Given the description of an element on the screen output the (x, y) to click on. 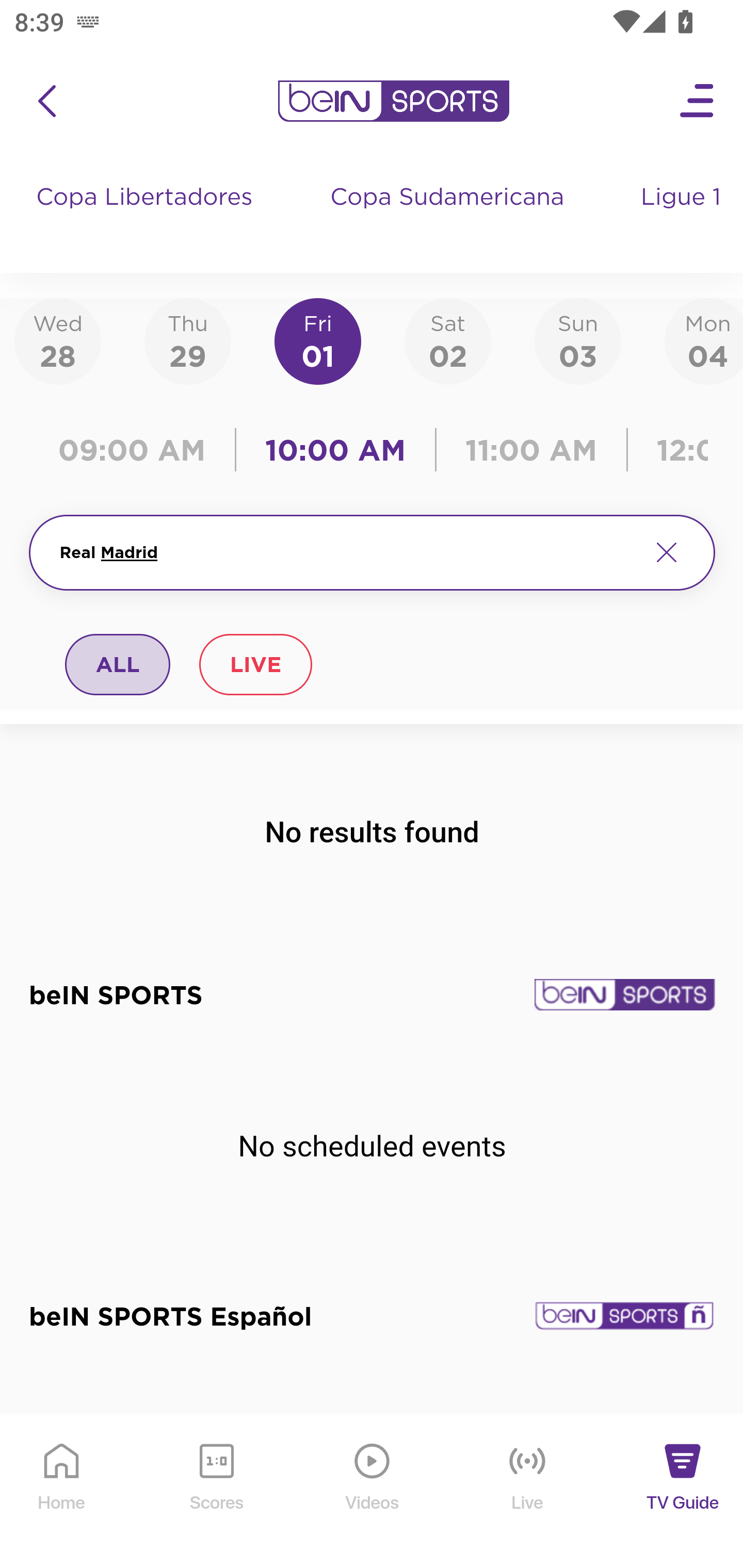
en-us?platform=mobile_android bein logo (392, 101)
icon back (46, 101)
Open Menu Icon (697, 101)
Copa Libertadores (146, 216)
Copa Sudamericana (448, 216)
Ligue 1 (682, 216)
Wed28 (58, 340)
Thu29 (187, 340)
Fri01 (318, 340)
Sat02 (447, 340)
Sun03 (578, 340)
Mon04 (703, 340)
09:00 AM (136, 449)
10:00 AM (335, 449)
11:00 AM (531, 449)
Real Madrid (346, 552)
ALL (118, 663)
LIVE (255, 663)
Home Home Icon Home (61, 1491)
Scores Scores Icon Scores (216, 1491)
Videos Videos Icon Videos (372, 1491)
TV Guide TV Guide Icon TV Guide (682, 1491)
